Given the description of an element on the screen output the (x, y) to click on. 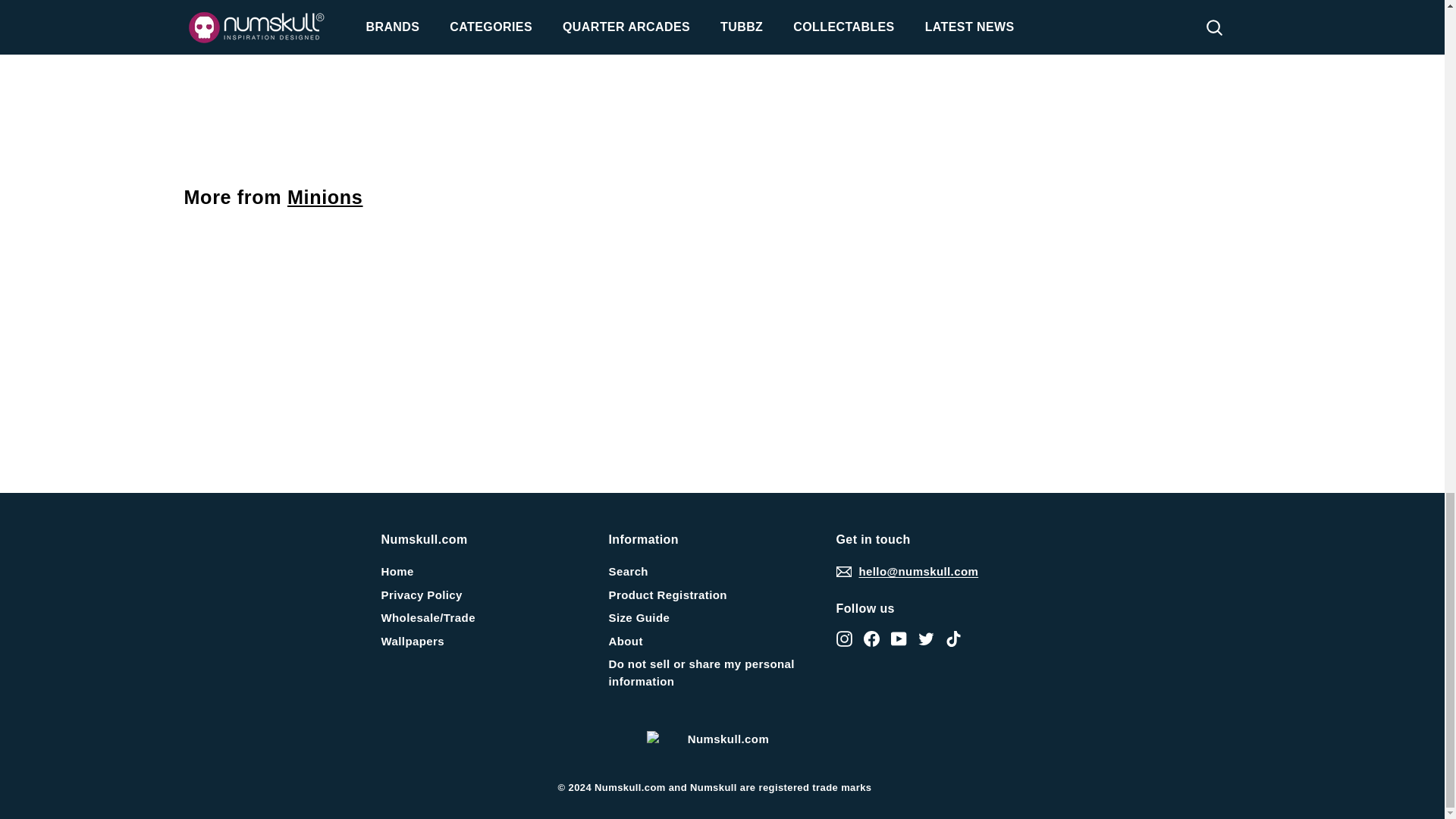
Minions (324, 197)
Numskull.com on Instagram (843, 638)
Numskull.com on YouTube (897, 638)
Numskull.com on Twitter (925, 638)
Numskull.com on Facebook (871, 638)
Numskull.com on TikTok (952, 638)
